Given the description of an element on the screen output the (x, y) to click on. 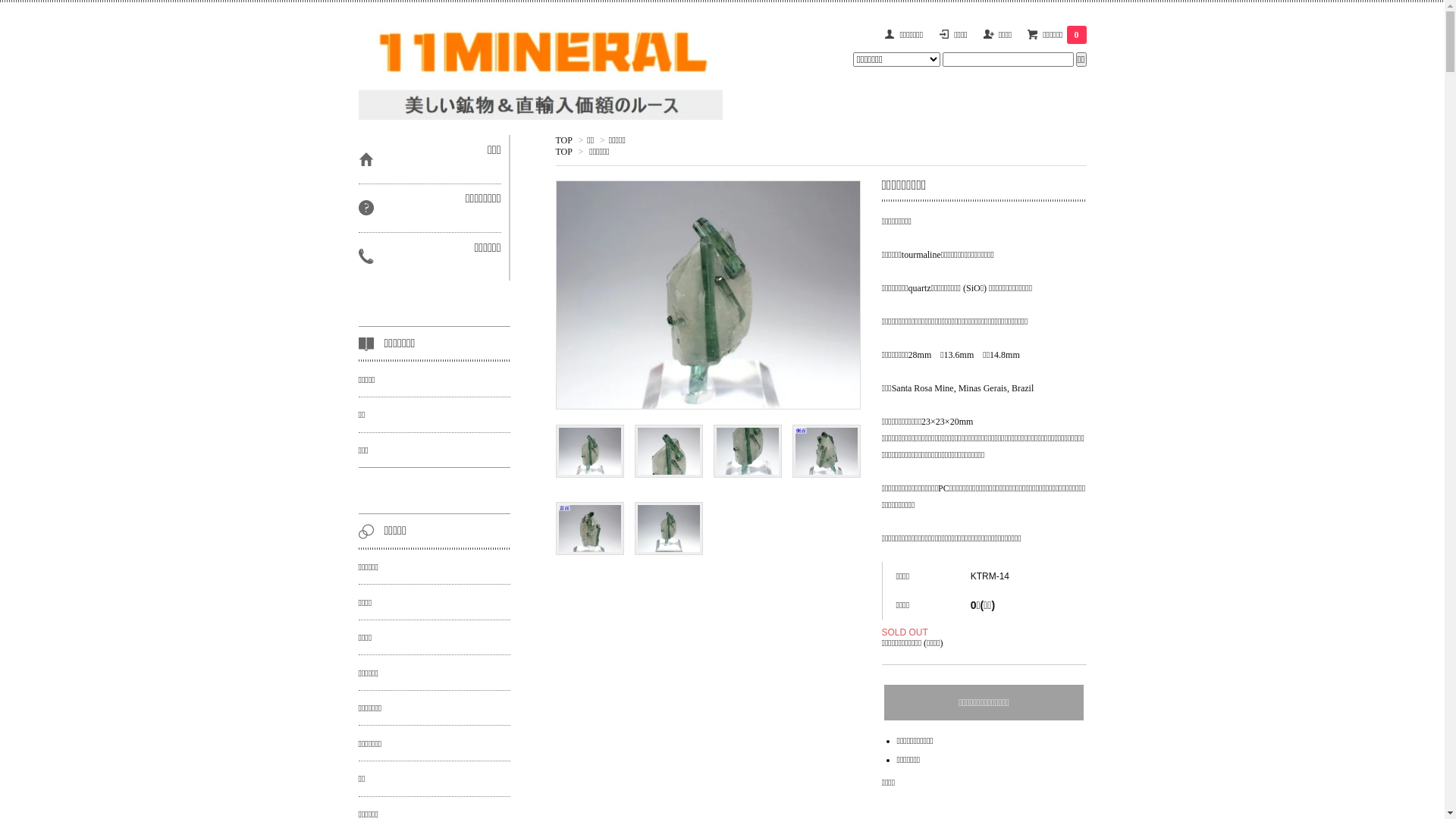
TOP Element type: text (563, 139)
TOP Element type: text (563, 151)
